Given the description of an element on the screen output the (x, y) to click on. 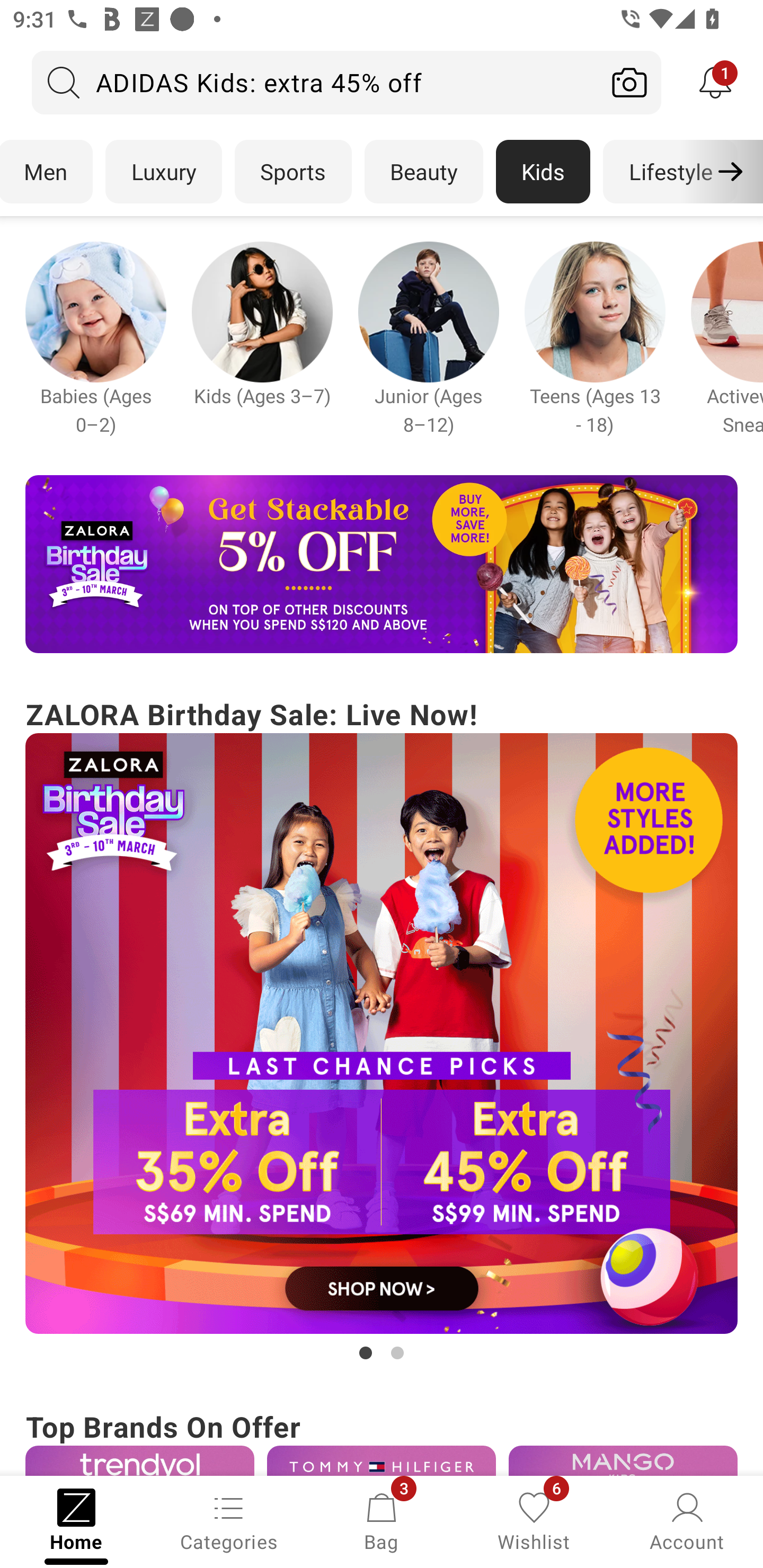
ADIDAS Kids: extra 45% off (314, 82)
Men (46, 171)
Luxury (163, 171)
Sports (293, 171)
Beauty (423, 171)
Kids (542, 171)
Lifestyle (669, 171)
Campaign banner (95, 311)
Campaign banner (261, 311)
Campaign banner (428, 311)
Campaign banner (594, 311)
Campaign banner (381, 564)
ZALORA Birthday Sale: Live Now! Campaign banner (381, 1028)
Campaign banner (381, 1033)
Campaign banner (139, 1460)
Campaign banner (381, 1460)
Campaign banner (622, 1460)
Categories (228, 1519)
Bag, 3 new notifications Bag (381, 1519)
Wishlist, 6 new notifications Wishlist (533, 1519)
Account (686, 1519)
